Given the description of an element on the screen output the (x, y) to click on. 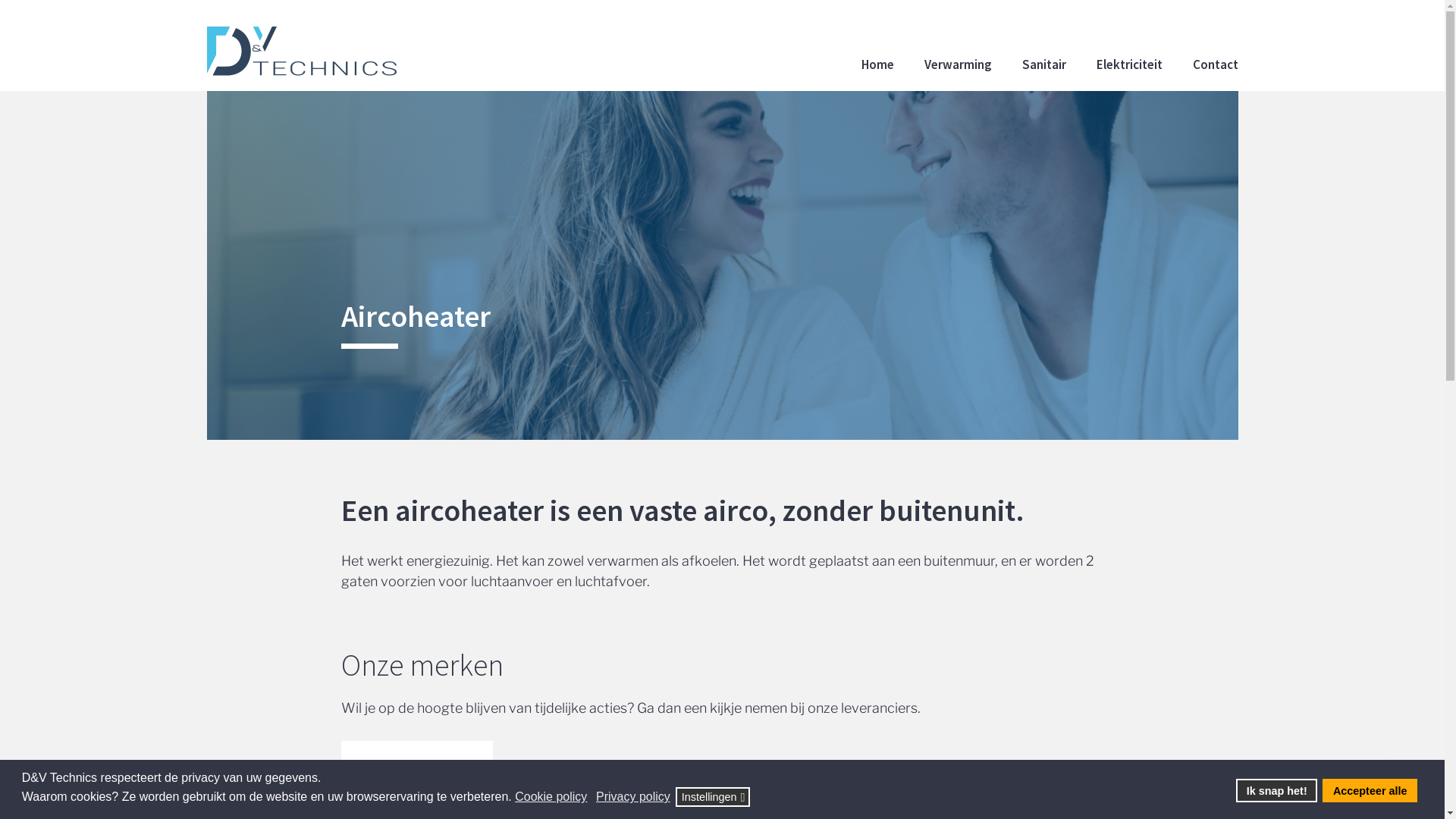
Home Element type: text (877, 64)
Privacy policy Element type: text (634, 796)
Ik snap het! Element type: text (1276, 790)
Accepteer alle Element type: text (1369, 790)
Sanitair Element type: text (1044, 64)
Verwarming Element type: text (957, 64)
Elektriciteit Element type: text (1129, 64)
Contact Element type: text (1214, 64)
Cookie policy Element type: text (551, 796)
